Given the description of an element on the screen output the (x, y) to click on. 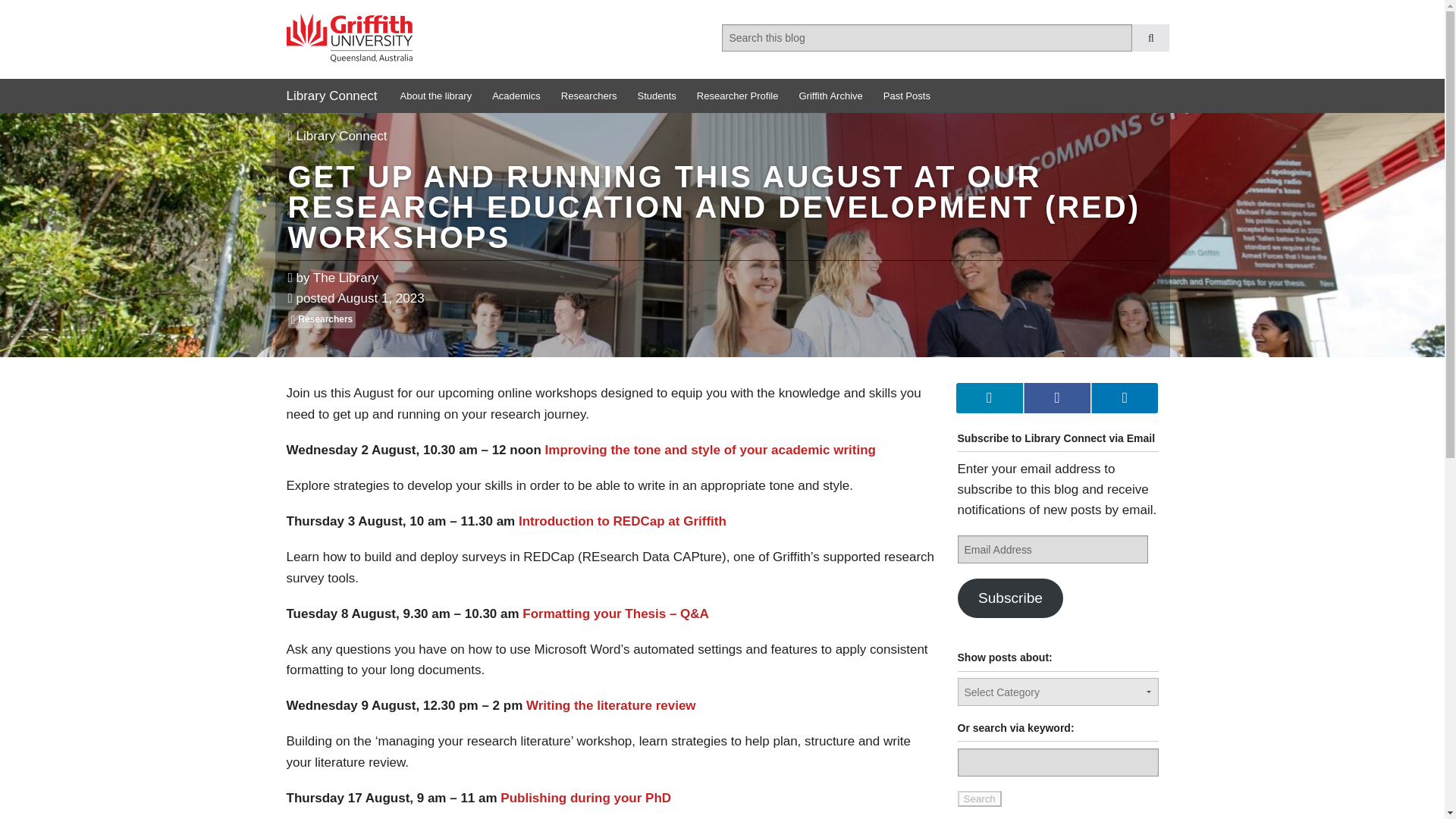
Academics (515, 95)
Students (655, 95)
Improving the tone and style of your academic writing  (711, 450)
Subscribe (1009, 598)
Researchers (588, 95)
About the library (434, 95)
Griffith Archive (828, 95)
Search (978, 798)
Library Connect (331, 95)
Past Posts (905, 95)
